Given the description of an element on the screen output the (x, y) to click on. 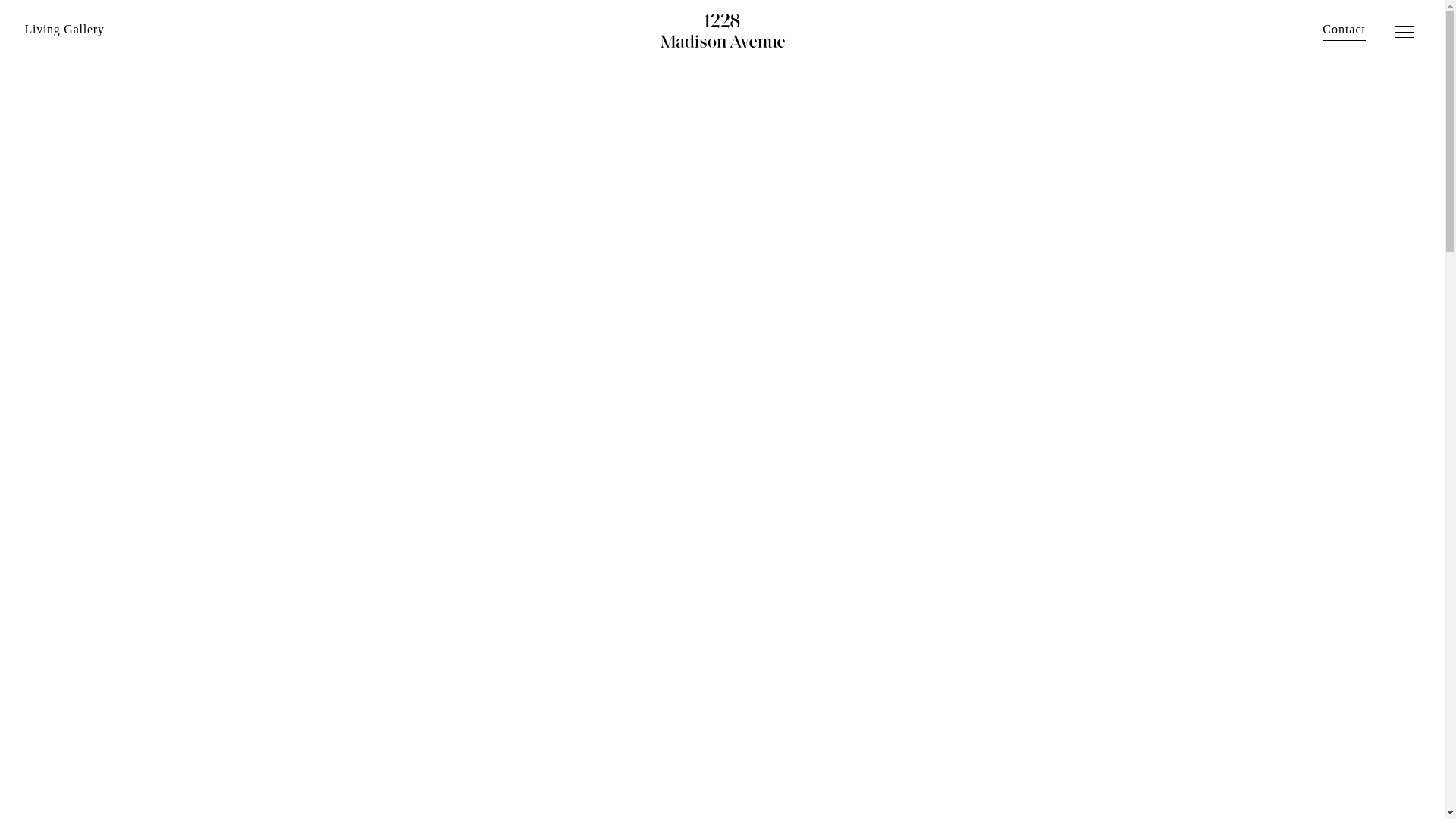
Contact Element type: text (1343, 28)
Open Menu Element type: text (1406, 32)
